Given the description of an element on the screen output the (x, y) to click on. 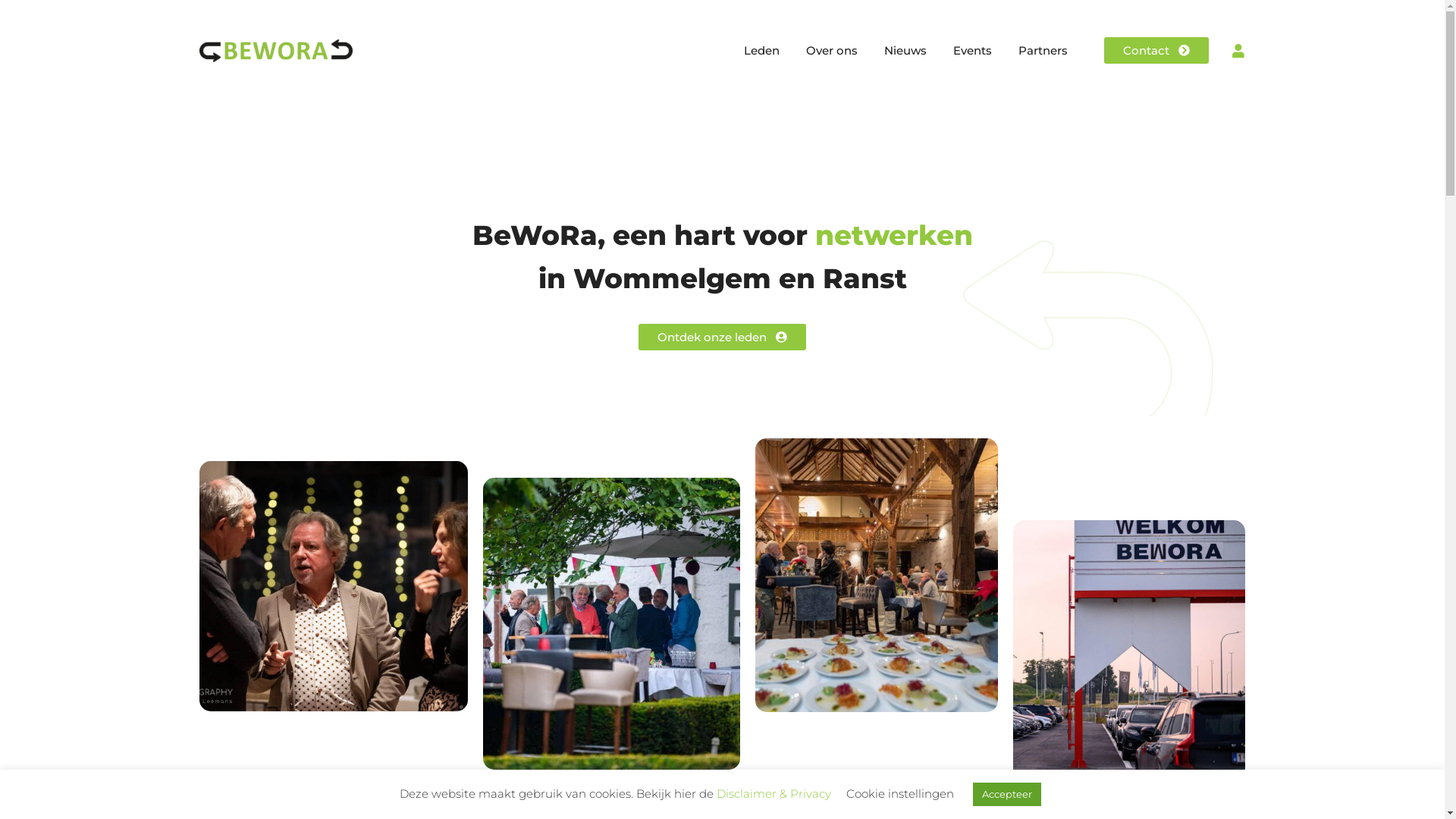
Disclaimer & Privacy Element type: text (773, 793)
Contact Element type: text (1156, 50)
Accepteer Element type: text (1006, 794)
Events Element type: text (972, 50)
Cookie instellingen Element type: text (899, 793)
Leden Element type: text (761, 50)
Over ons Element type: text (831, 50)
Ontdek onze leden Element type: text (722, 336)
Nieuws Element type: text (905, 50)
Partners Element type: text (1042, 50)
